Given the description of an element on the screen output the (x, y) to click on. 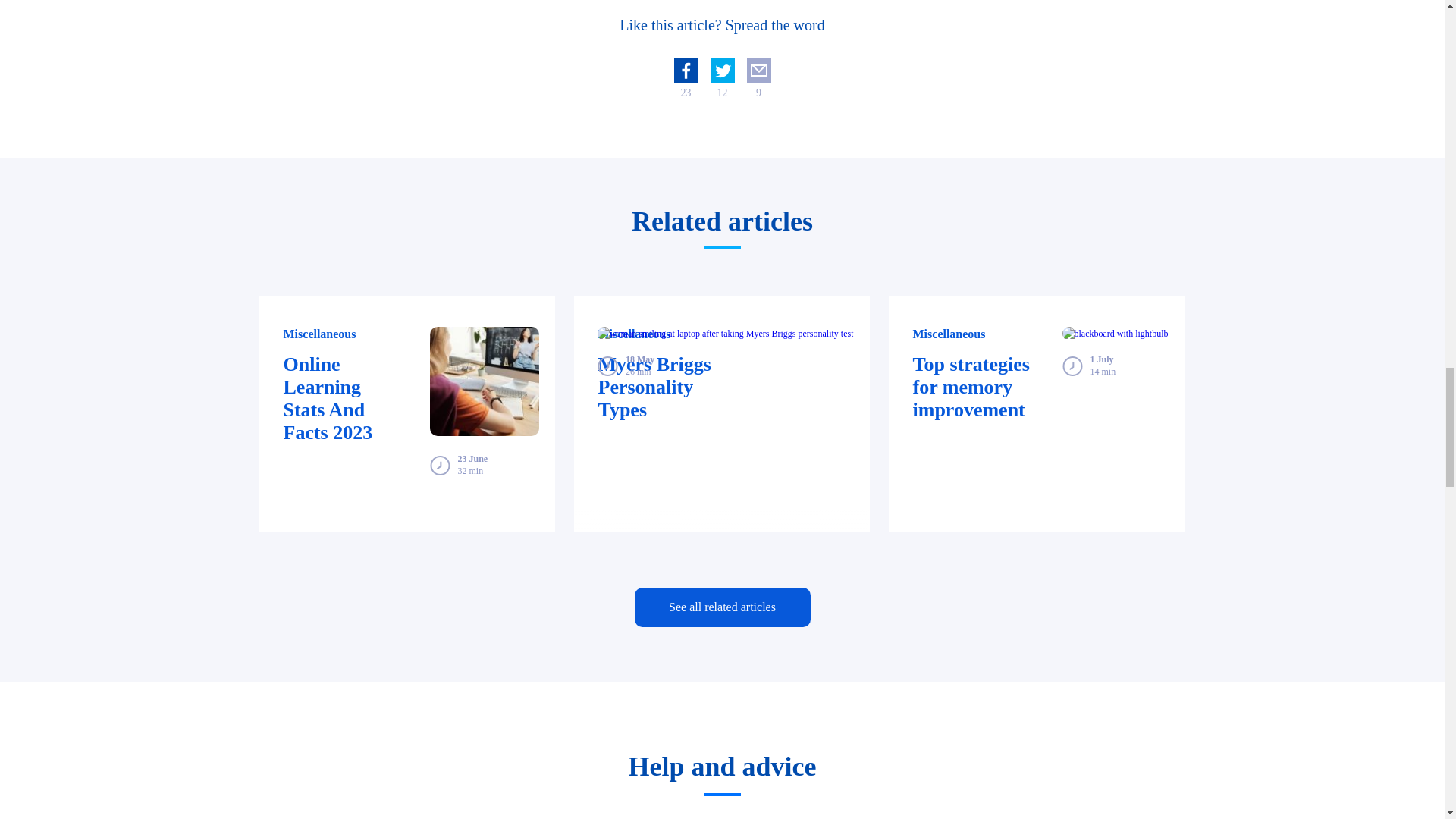
blackboard with lightbulb (1115, 333)
girl using online learning (483, 380)
See all related articles (721, 607)
